Given the description of an element on the screen output the (x, y) to click on. 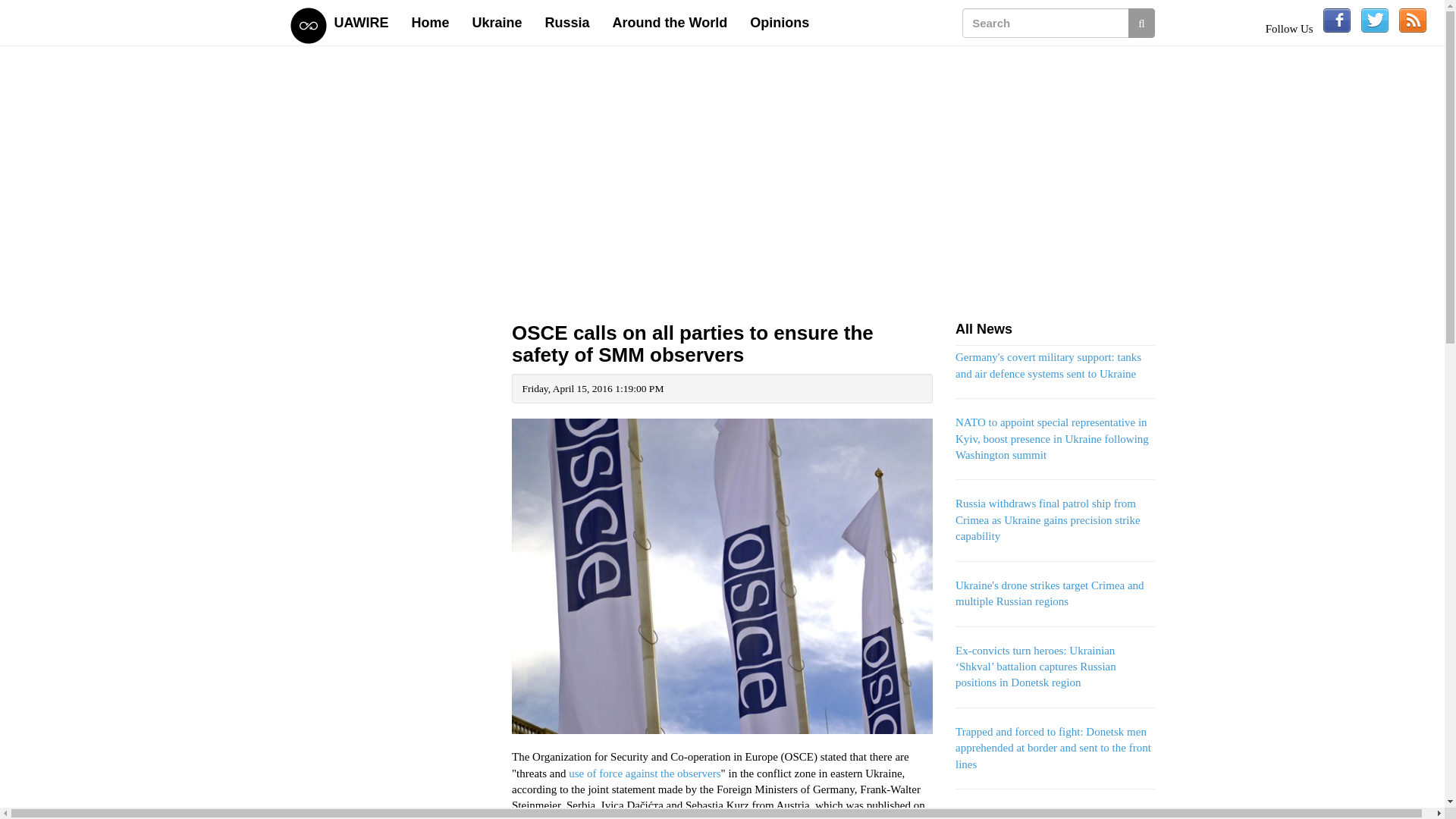
Subscribe to our rss feed (1412, 20)
Follow us on Twitter (1375, 20)
Home (430, 22)
use of force against the observers (644, 773)
Follow us on Facebook (1337, 20)
Around the World (670, 22)
Advertisement (389, 790)
Advertisement (389, 533)
Opinions (779, 22)
